Given the description of an element on the screen output the (x, y) to click on. 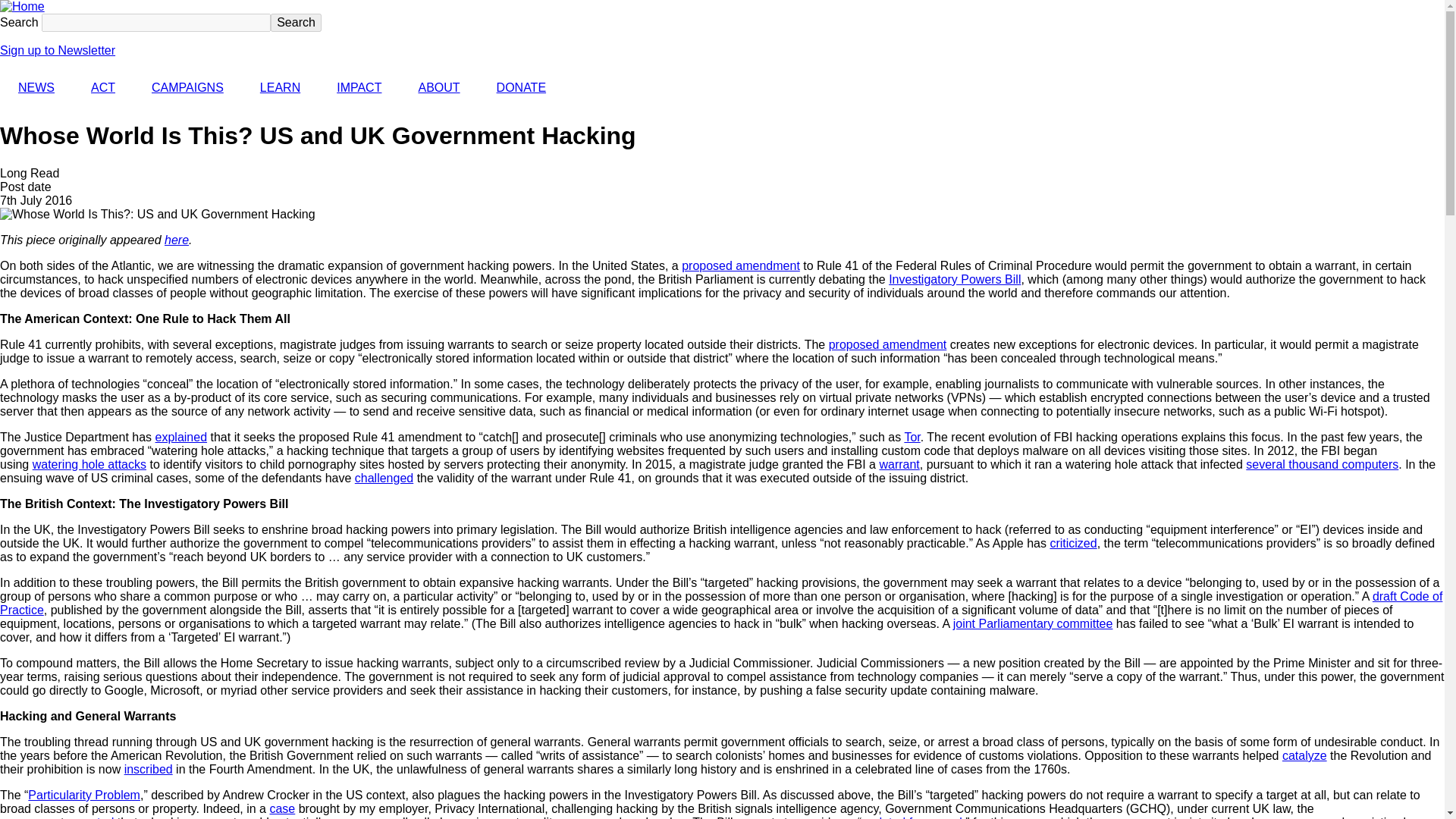
criticized (1072, 543)
inscribed (148, 768)
Sign up to Newsletter (57, 50)
LEARN (279, 87)
DONATE (521, 87)
updated framework (913, 817)
proposed amendment (740, 265)
Investigatory Powers Bill (954, 278)
draft Code of Practice (721, 602)
proposed amendment (887, 344)
case (282, 808)
asserted (89, 817)
NEWS (36, 87)
ACT (102, 87)
